Given the description of an element on the screen output the (x, y) to click on. 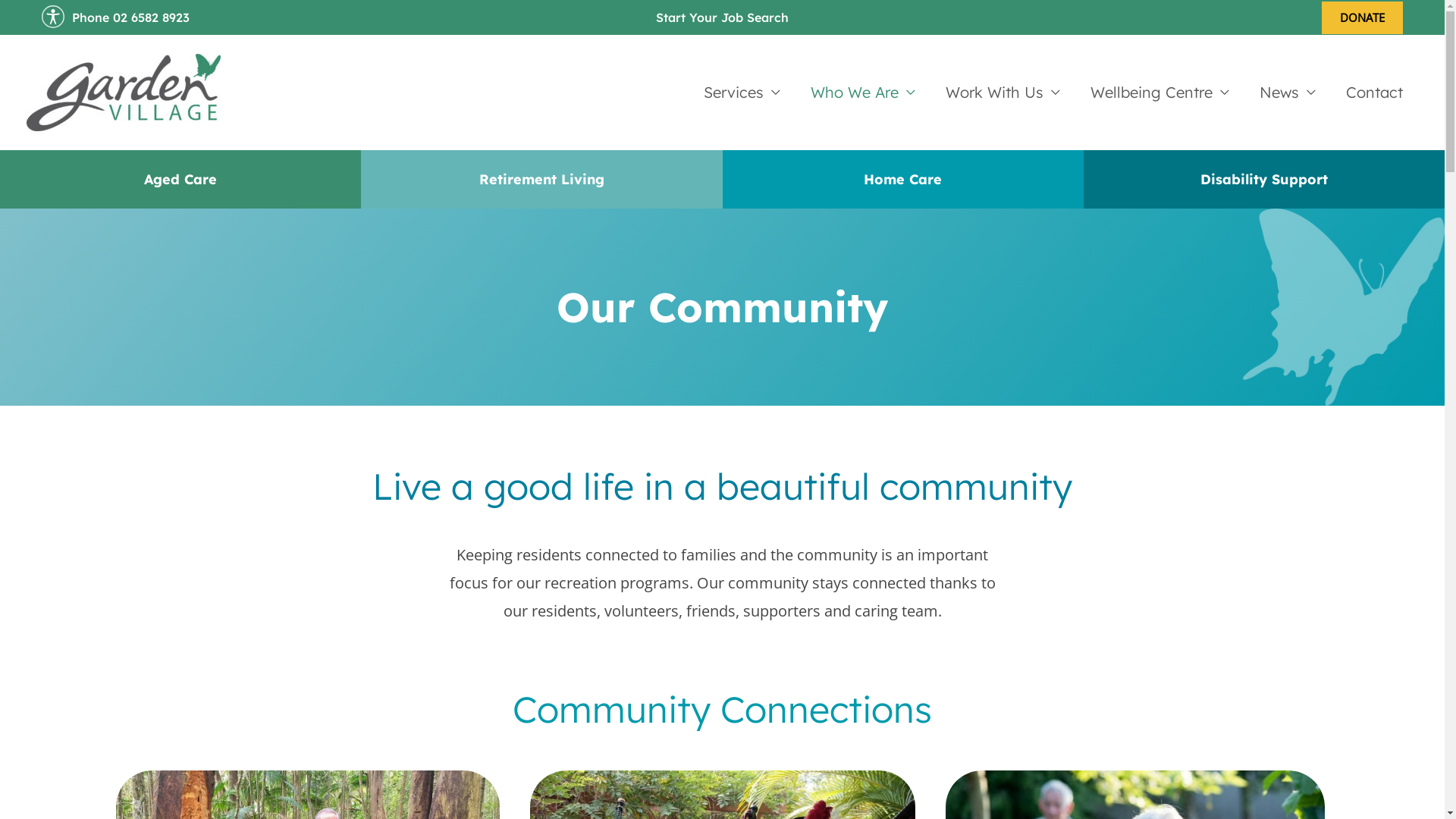
Who We Are Element type: text (862, 92)
Retirement Living Element type: text (540, 179)
Contact Element type: text (1374, 92)
Aged Care Element type: text (180, 179)
Services Element type: text (741, 92)
DONATE Element type: text (1361, 17)
Home Care Element type: text (901, 179)
News Element type: text (1287, 92)
Wellbeing Centre Element type: text (1159, 92)
Disability Support Element type: text (1263, 179)
Phone 02 6582 8923 Element type: text (130, 17)
Work With Us Element type: text (1002, 92)
Start Your Job Search Element type: text (721, 17)
